Given the description of an element on the screen output the (x, y) to click on. 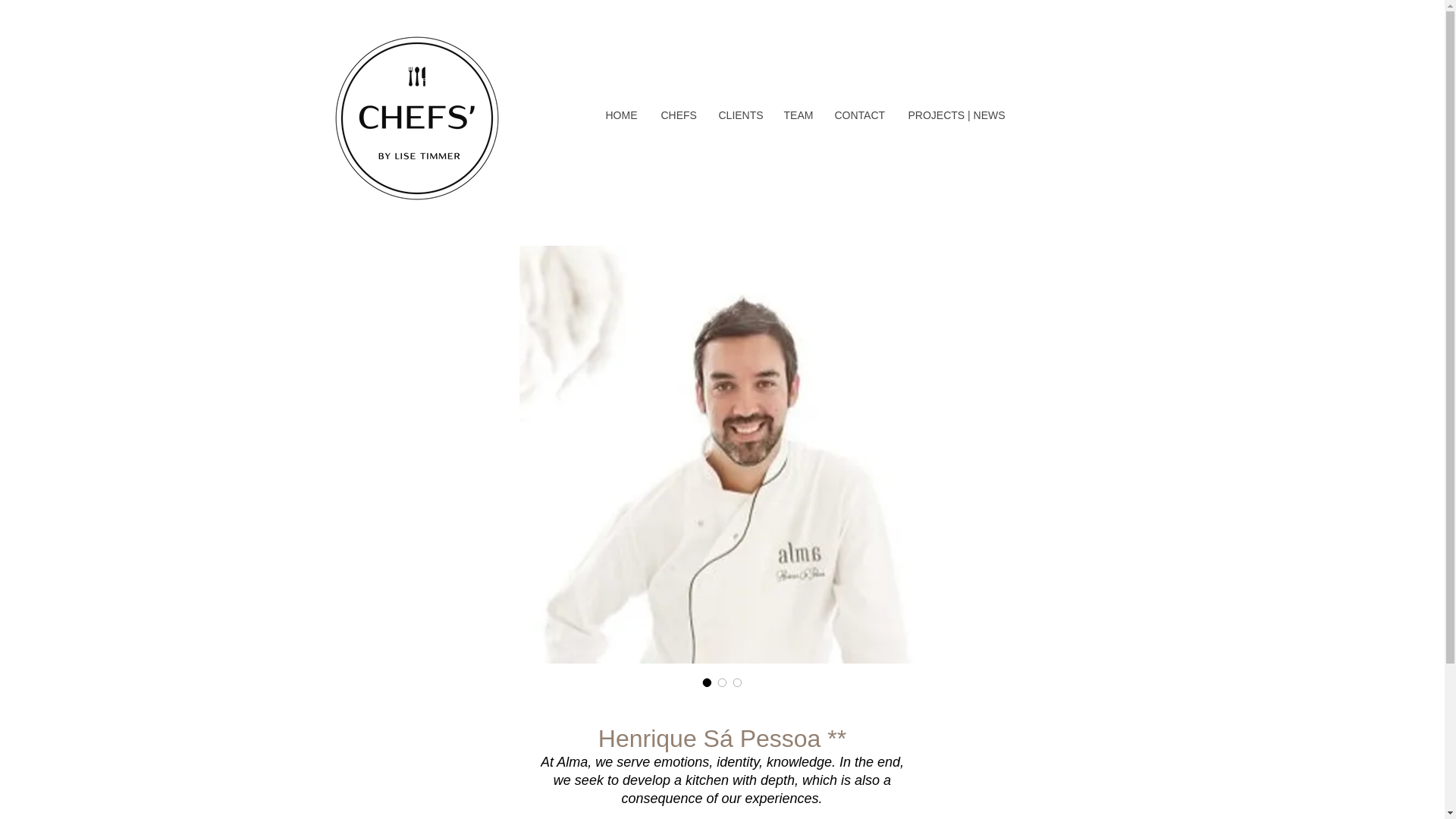
CHEFS (677, 115)
HOME (620, 115)
CLIENTS (738, 115)
TEAM (796, 115)
CONTACT (858, 115)
